Given the description of an element on the screen output the (x, y) to click on. 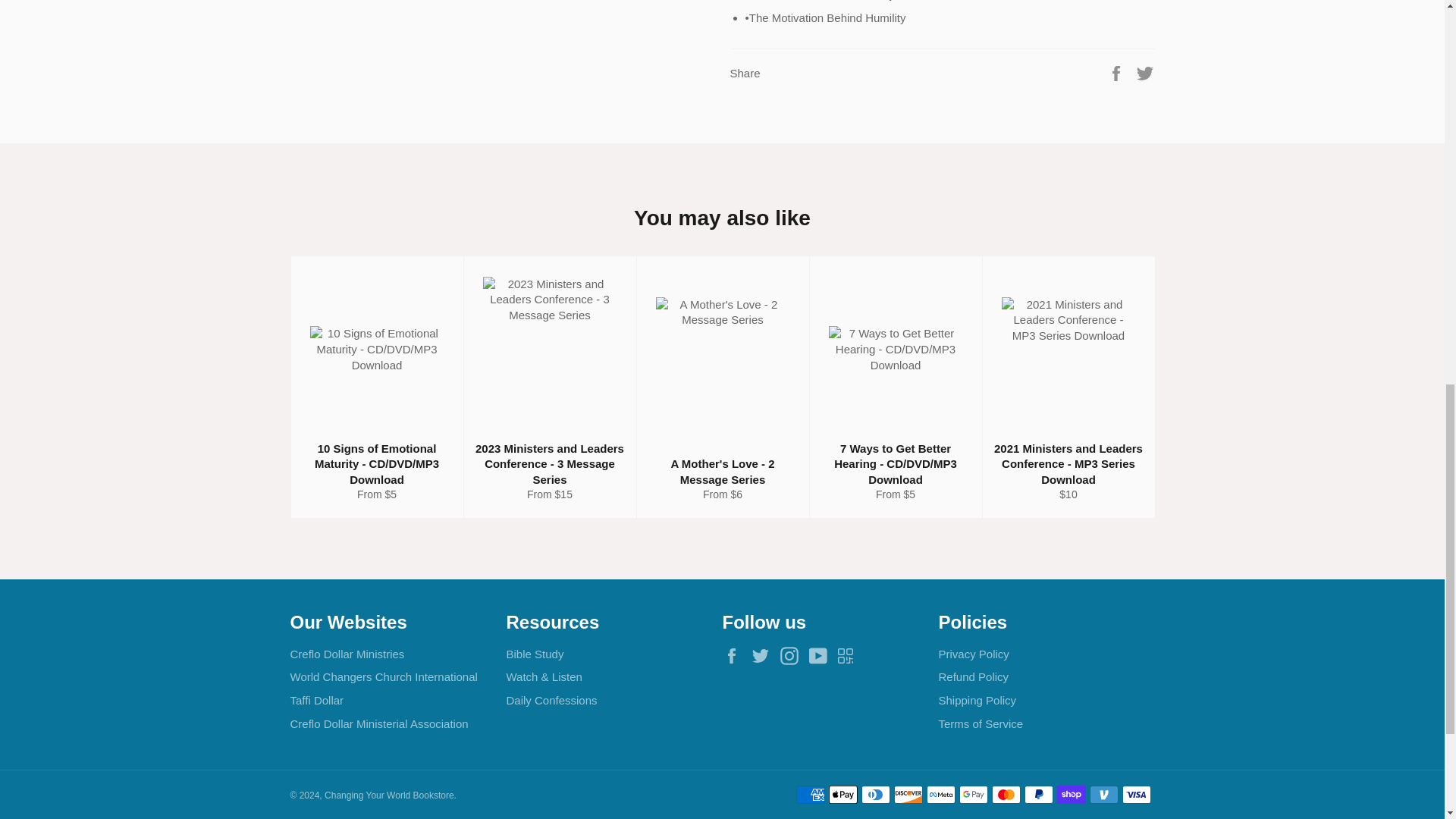
Changing Your World Bookstore on Instagram (793, 656)
Changing Your World Bookstore on Twitter (764, 656)
Changing Your World Bookstore on YouTube (821, 656)
Share on Facebook (1117, 72)
Tweet on Twitter (1144, 72)
Changing Your World Bookstore on Facebook (735, 656)
QR Code (849, 655)
